Given the description of an element on the screen output the (x, y) to click on. 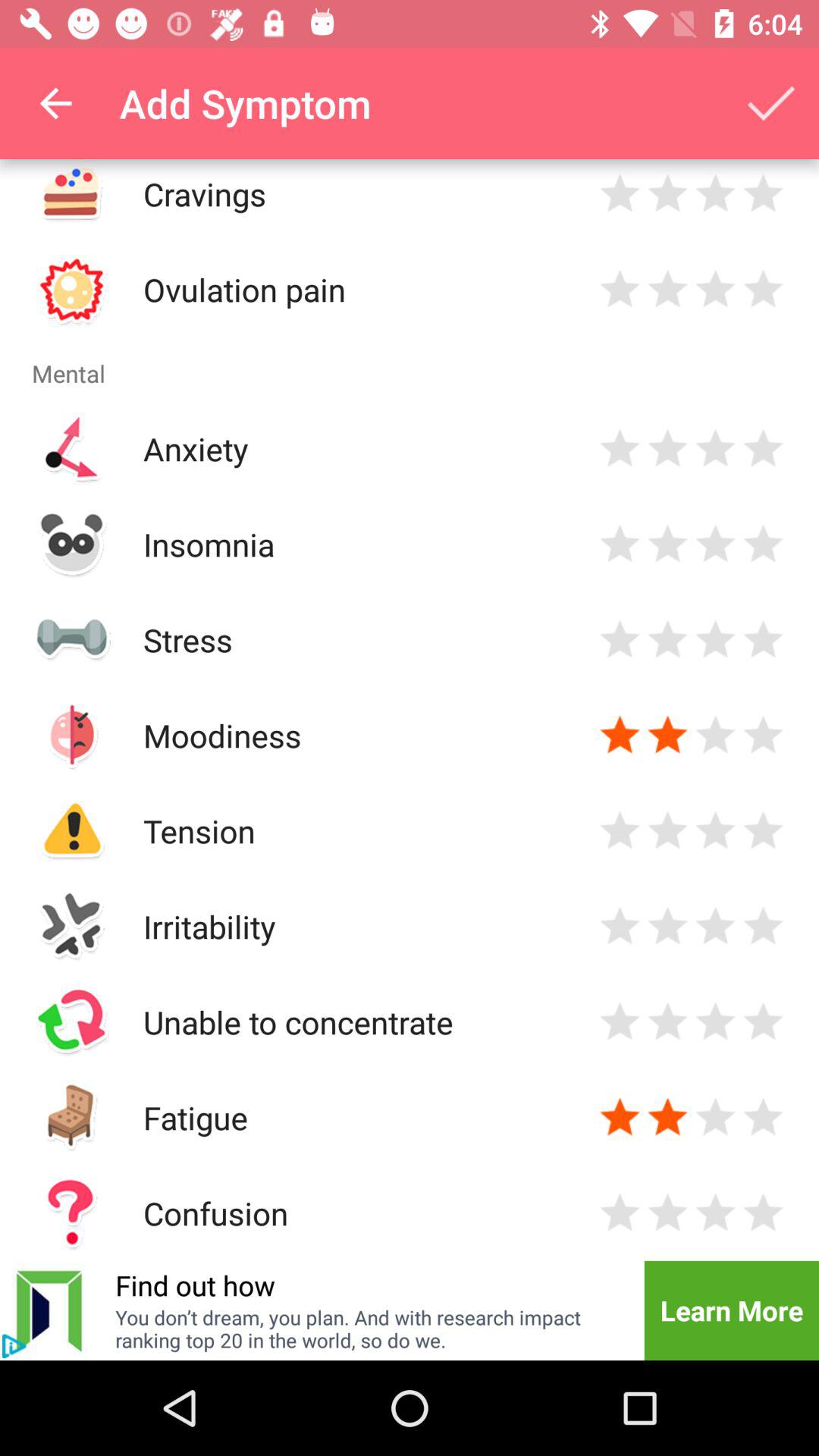
rate two stars (667, 1117)
